Given the description of an element on the screen output the (x, y) to click on. 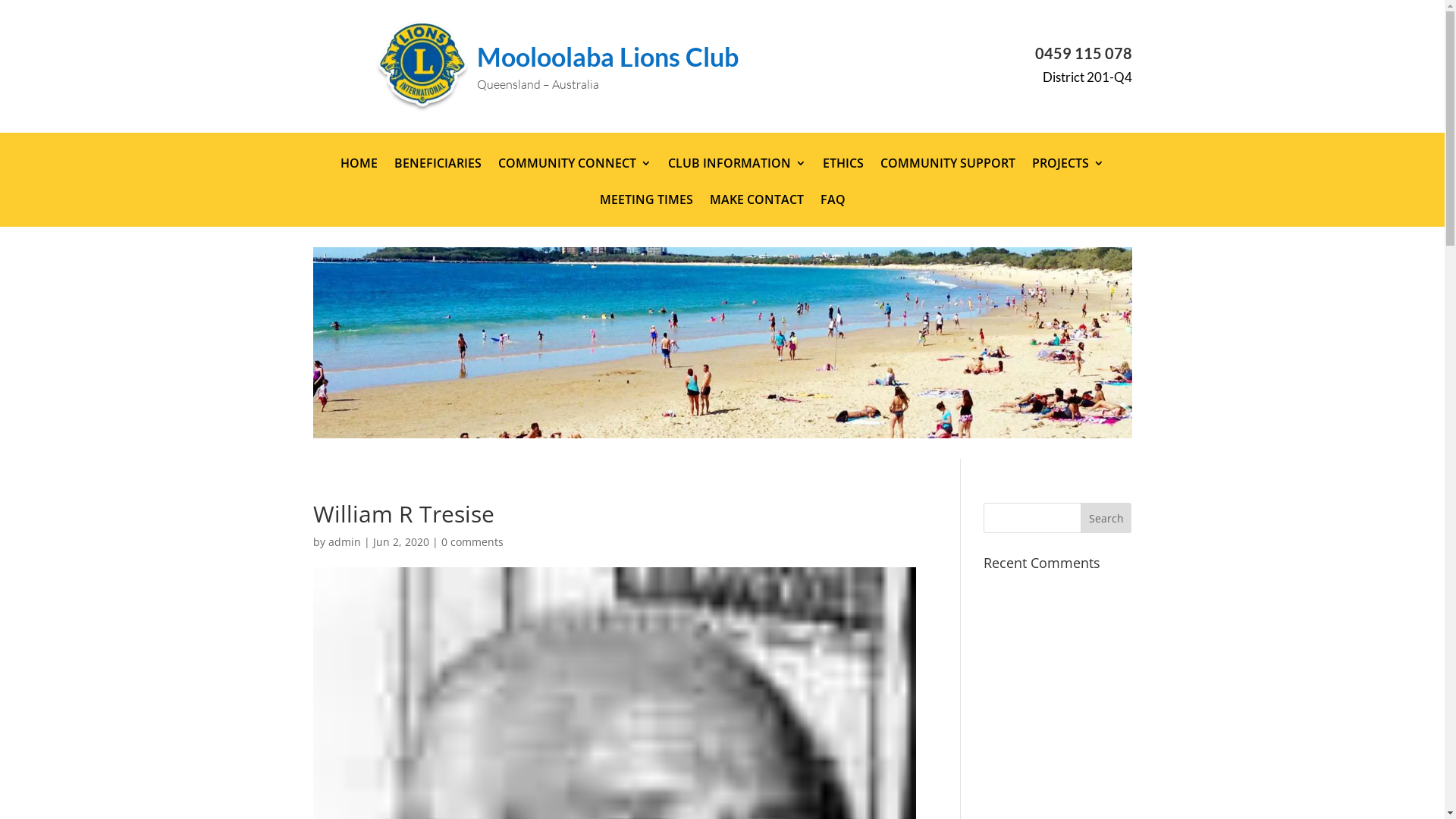
logo-5-3 Element type: hover (421, 66)
FAQ Element type: text (832, 210)
BENEFICIARIES Element type: text (437, 173)
admin Element type: text (343, 541)
HOME Element type: text (358, 173)
0 comments Element type: text (472, 541)
hero image 2 Element type: hover (721, 342)
COMMUNITY CONNECT Element type: text (574, 173)
MEETING TIMES Element type: text (645, 210)
PROJECTS Element type: text (1068, 173)
ETHICS Element type: text (842, 173)
COMMUNITY SUPPORT Element type: text (947, 173)
  Element type: text (1129, 93)
MAKE CONTACT Element type: text (756, 210)
Search Element type: text (1106, 517)
CLUB INFORMATION Element type: text (737, 173)
